Given the description of an element on the screen output the (x, y) to click on. 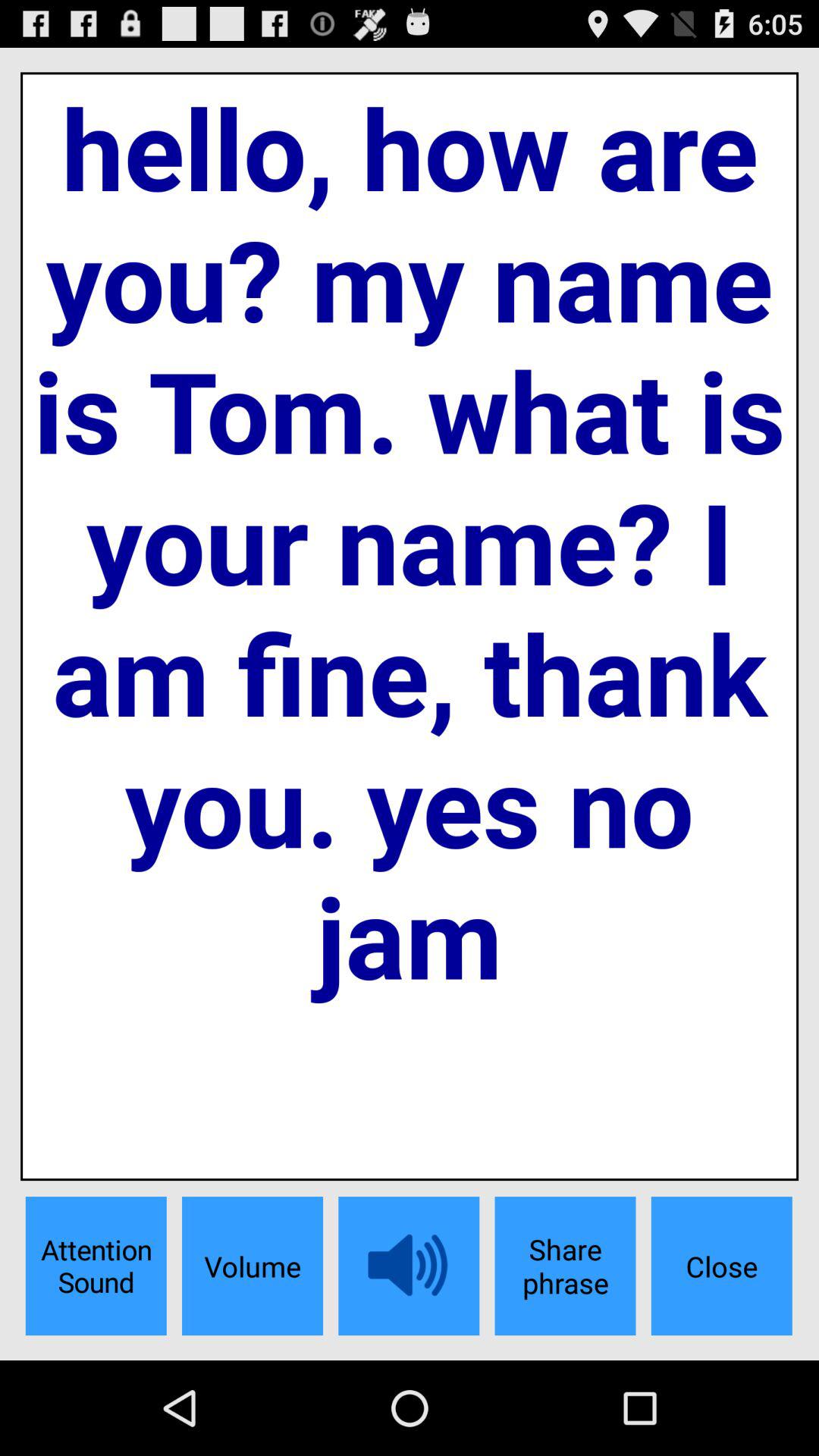
jump to the close icon (721, 1265)
